Given the description of an element on the screen output the (x, y) to click on. 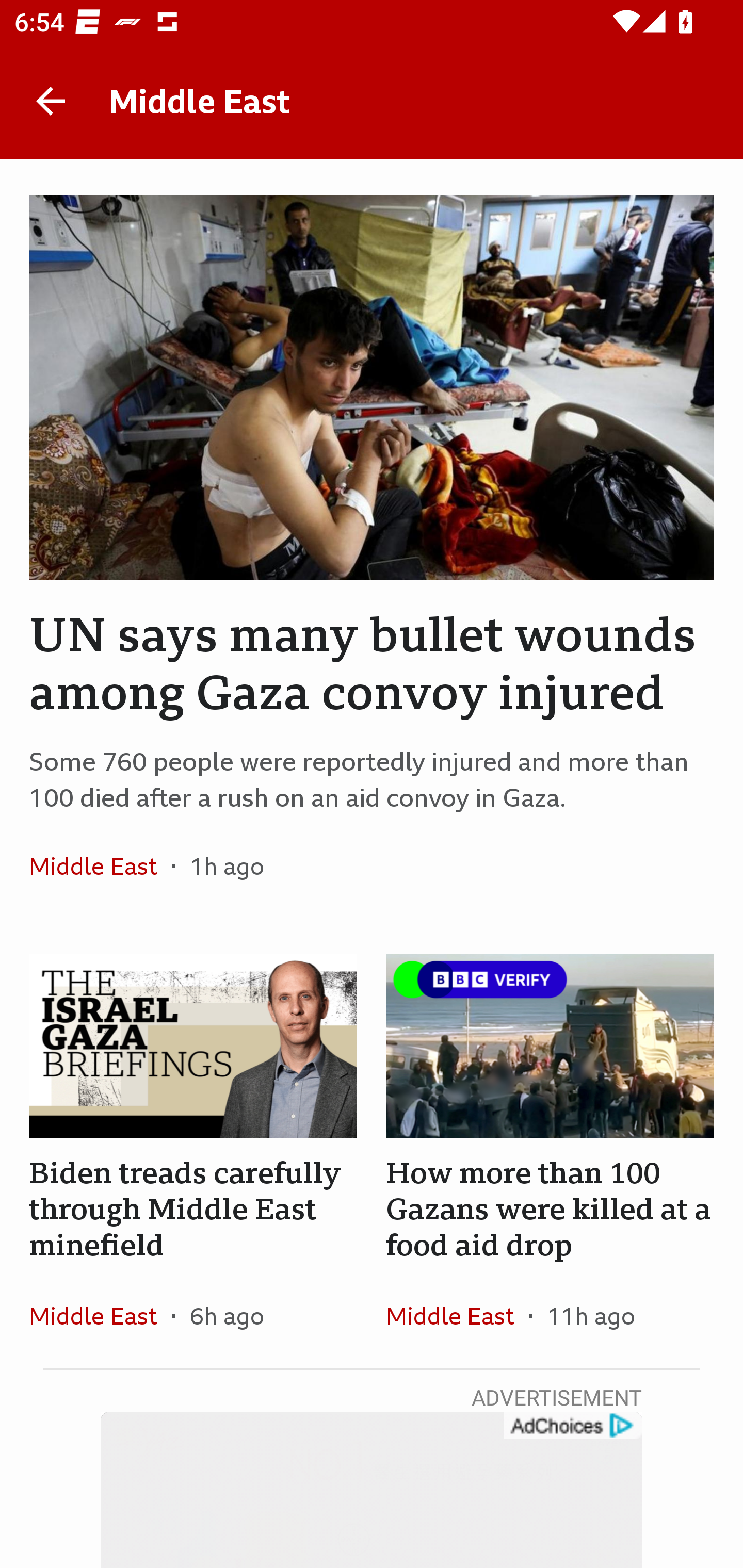
Back (50, 101)
Middle East In the section Middle East (99, 865)
Middle East In the section Middle East (99, 1315)
Middle East In the section Middle East (457, 1315)
Video Player get?name=admarker-full-tl   (371, 1489)
get?name=admarker-full-tl (571, 1425)
